Given the description of an element on the screen output the (x, y) to click on. 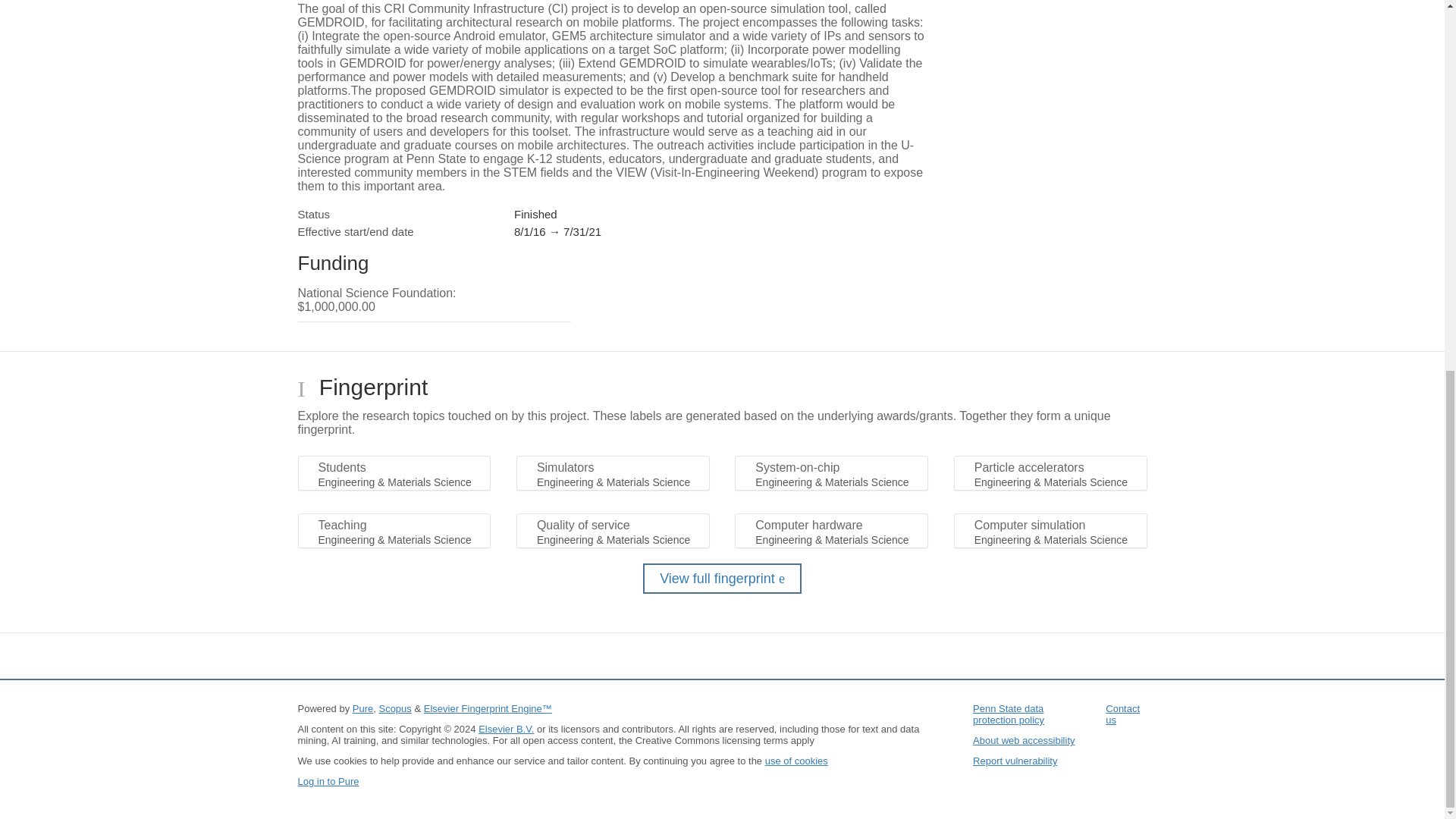
Scopus (394, 708)
Elsevier B.V. (506, 728)
Log in to Pure (327, 781)
Pure (362, 708)
use of cookies (796, 760)
View full fingerprint (722, 578)
